Given the description of an element on the screen output the (x, y) to click on. 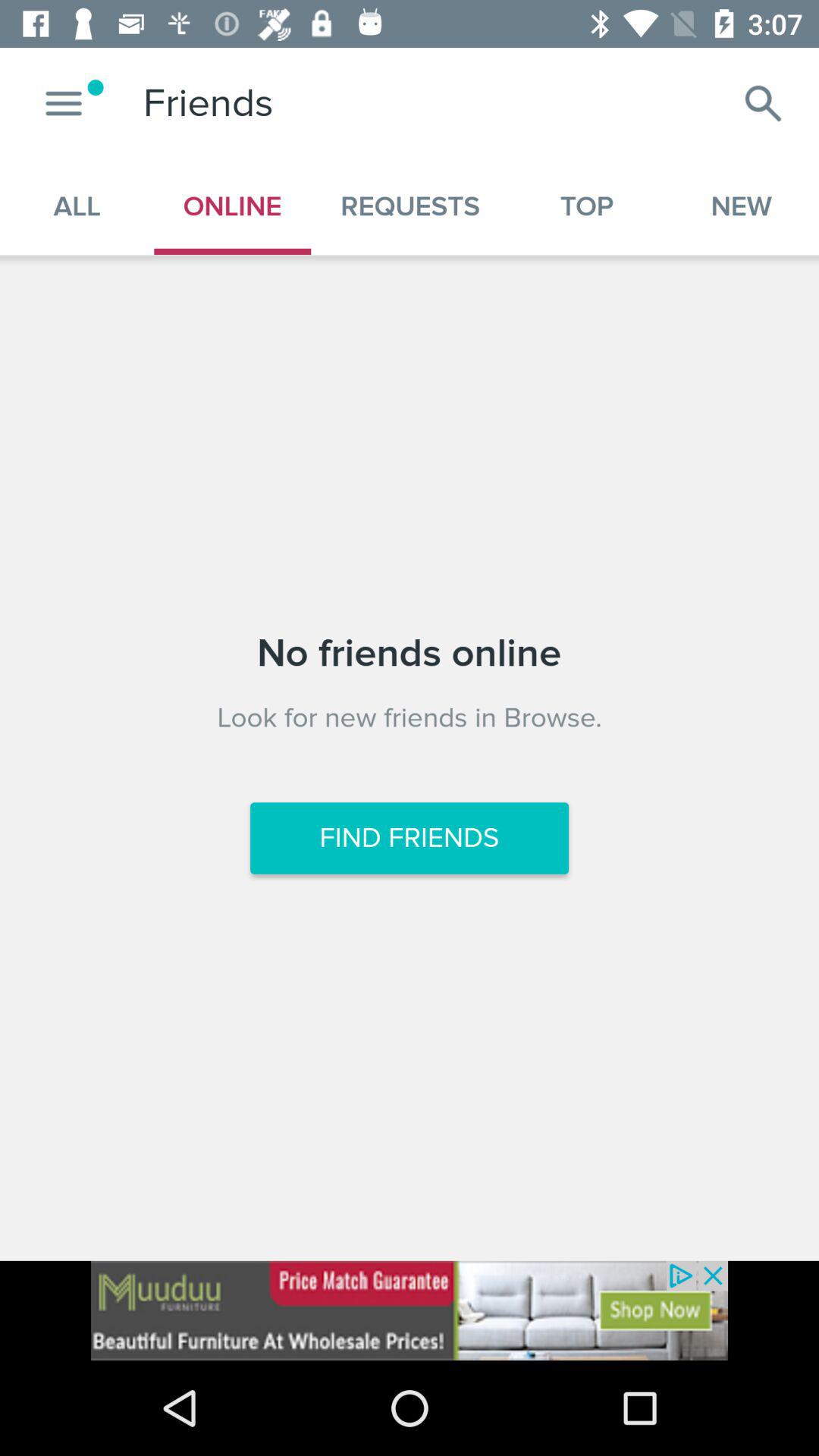
friends online (409, 1310)
